Given the description of an element on the screen output the (x, y) to click on. 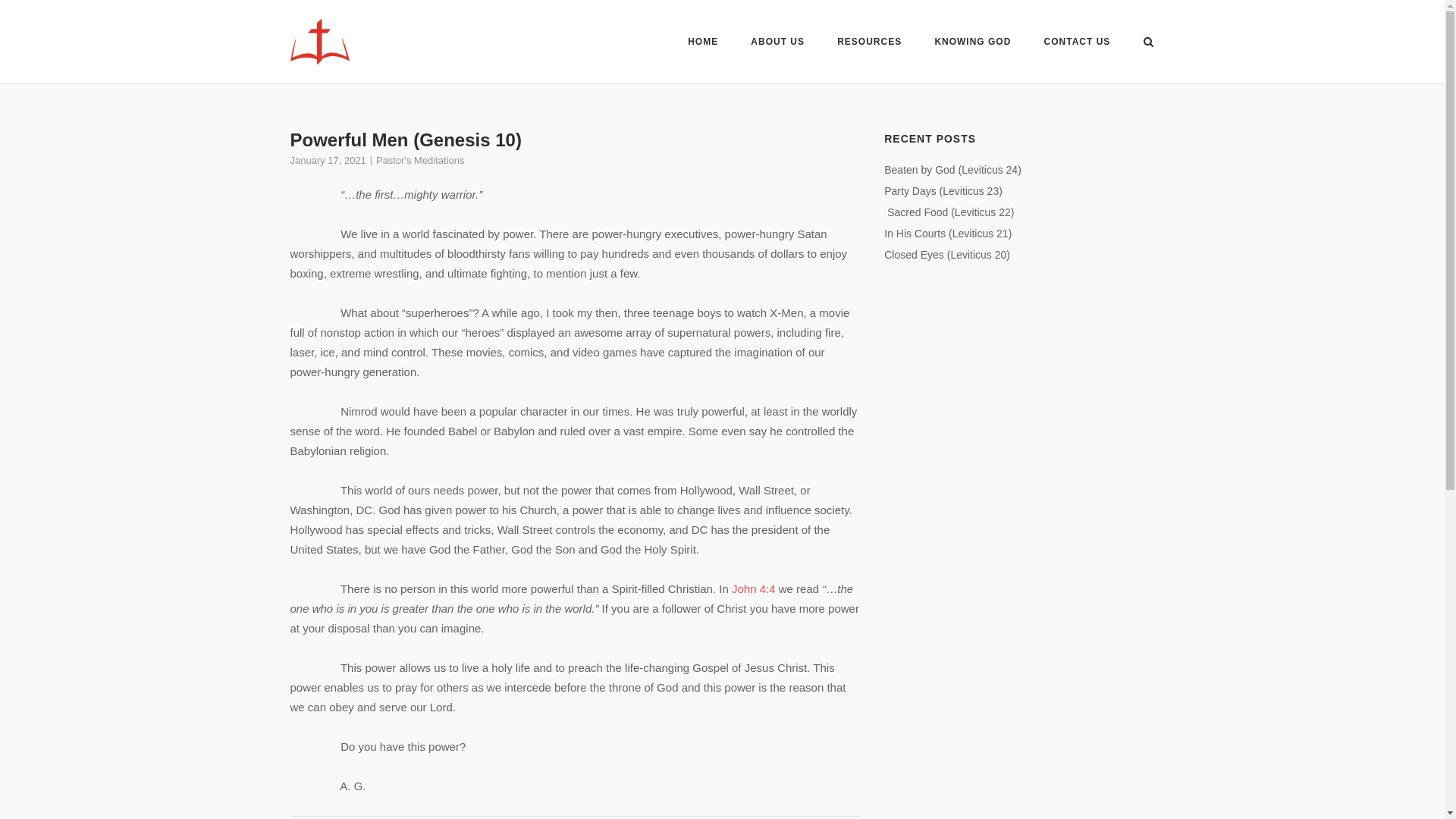
HOME (702, 44)
KNOWING GOD (972, 44)
Pastor's Meditations (419, 160)
RESOURCES (869, 43)
CONTACT US (1076, 44)
John 4:4 (754, 588)
ABOUT US (778, 43)
